Given the description of an element on the screen output the (x, y) to click on. 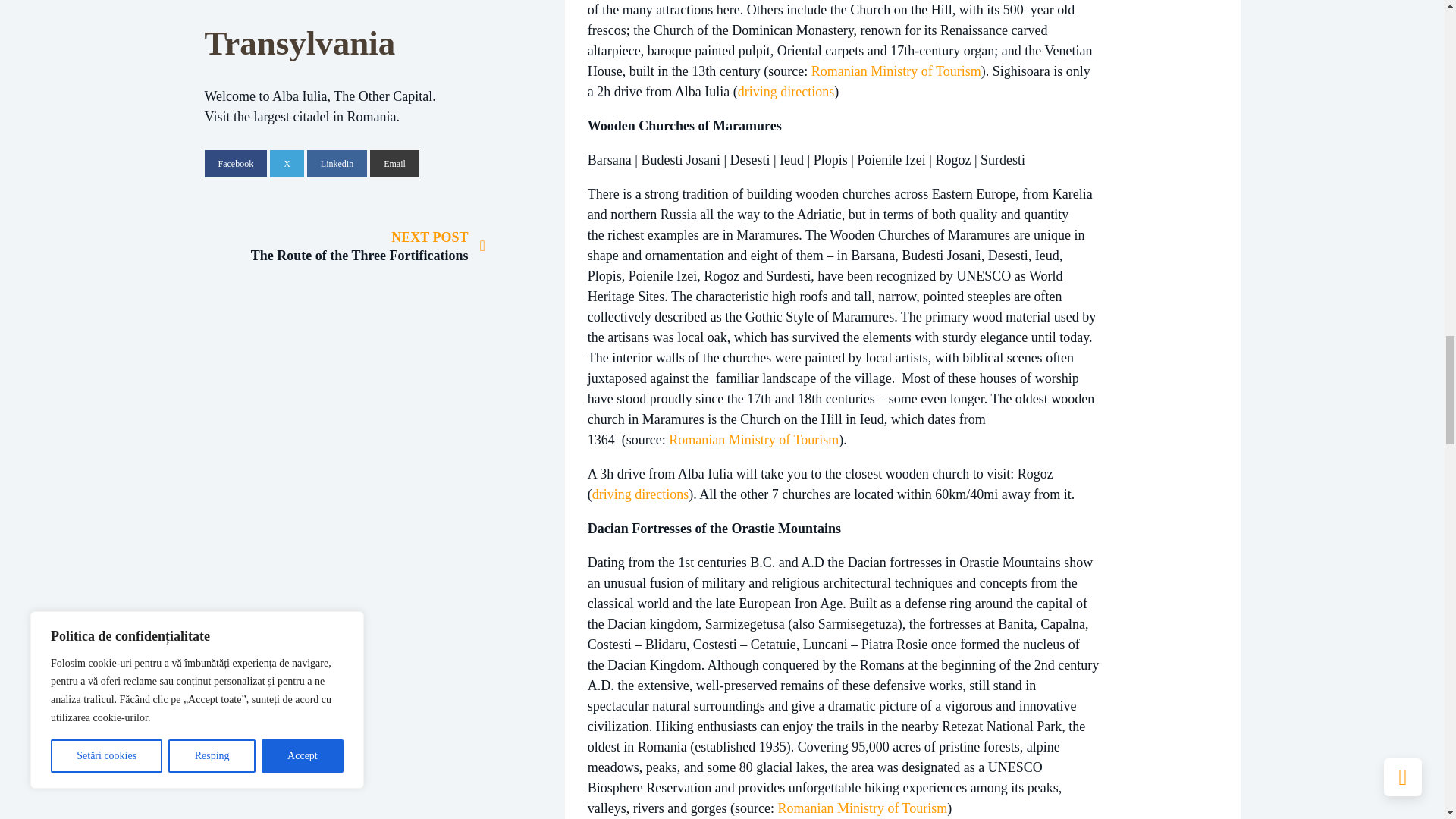
Romanian Ministry of Tourism (895, 70)
driving directions (640, 494)
Romanian Ministry of Tourism (753, 439)
Romanian Ministry of Tourism (862, 807)
driving directions (786, 91)
